Given the description of an element on the screen output the (x, y) to click on. 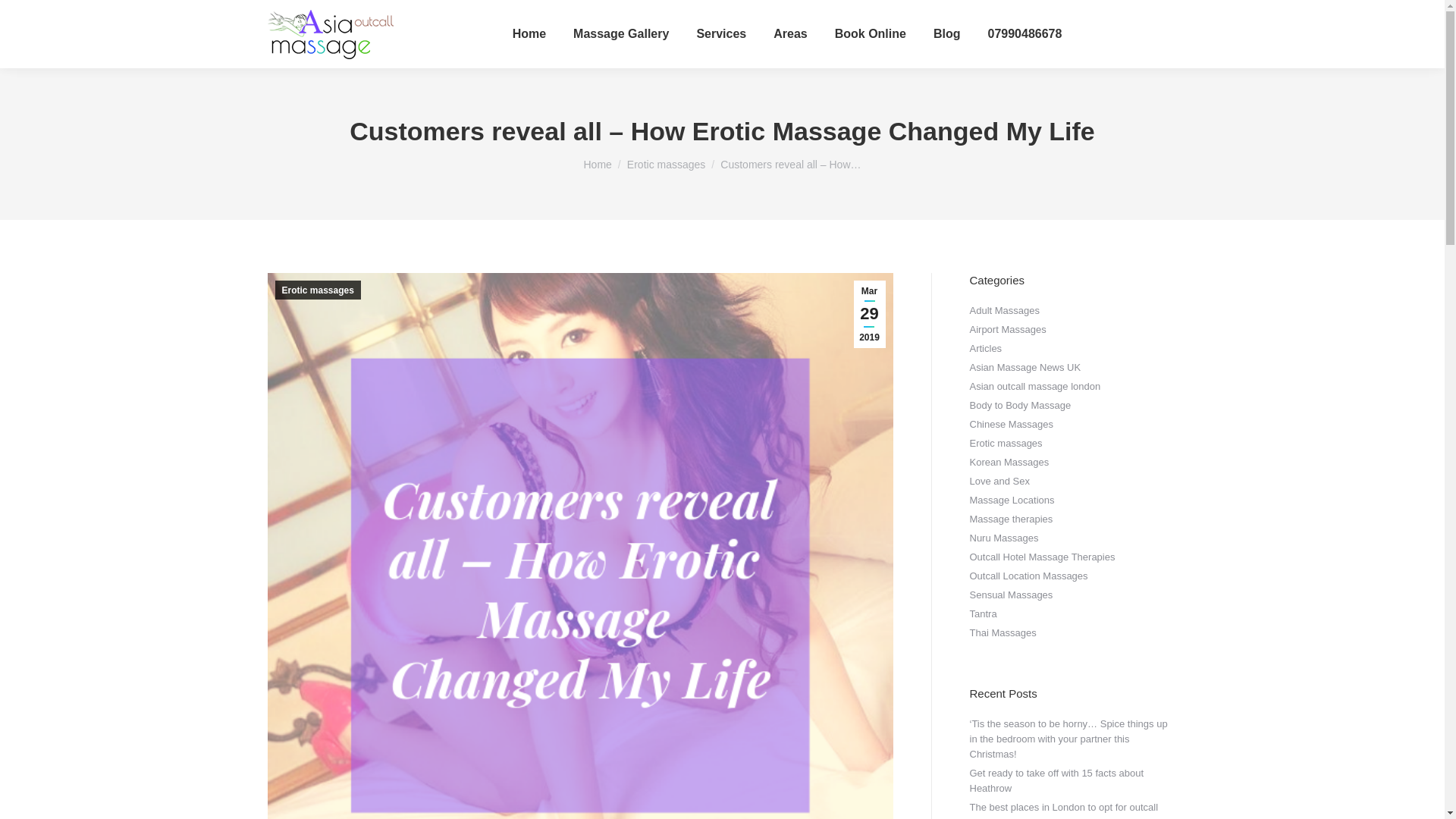
Home (597, 164)
Massage Gallery (620, 33)
Areas (789, 33)
Erotic massages (665, 164)
Services (721, 33)
Home (528, 33)
